Given the description of an element on the screen output the (x, y) to click on. 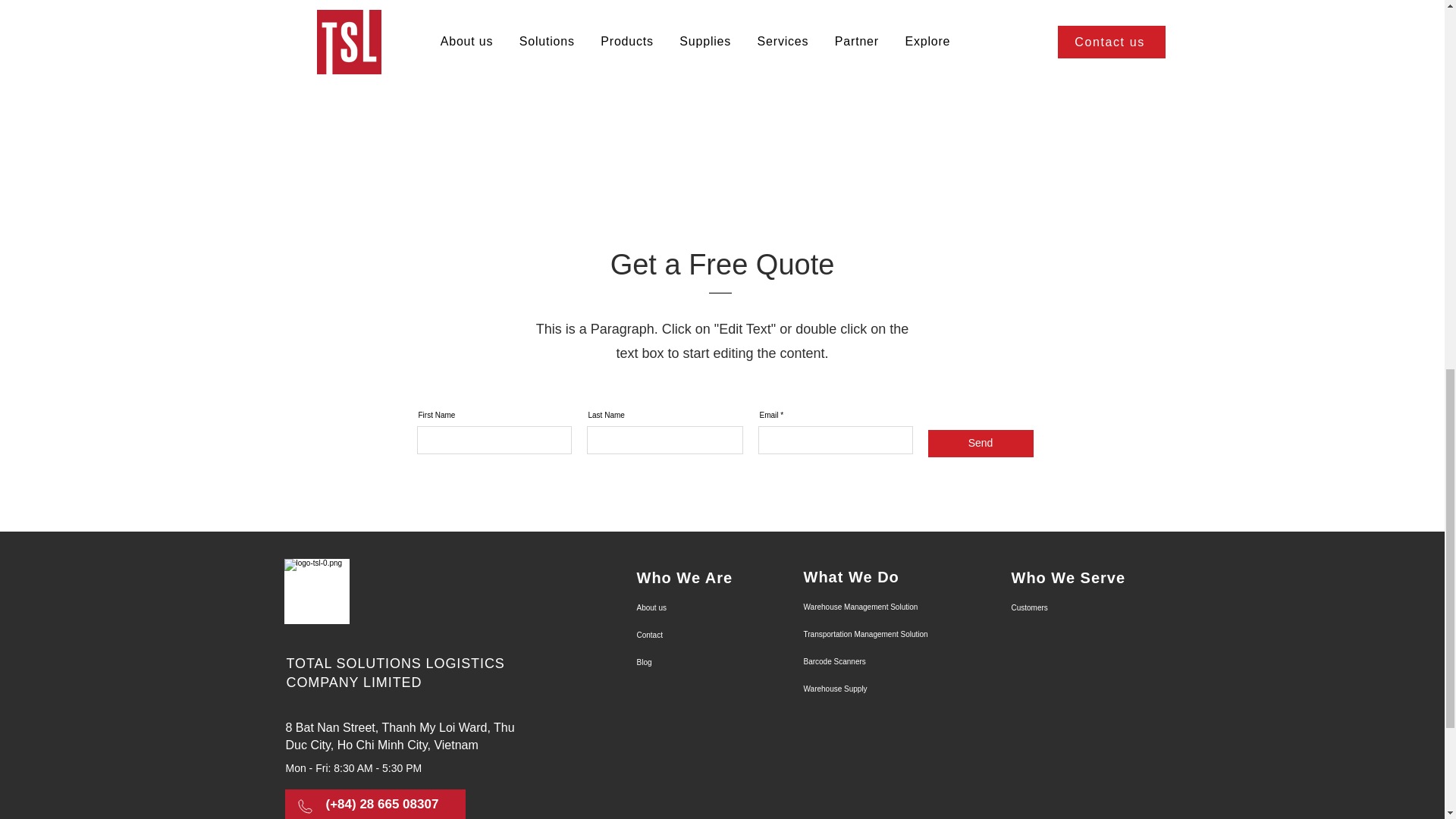
About us (690, 607)
Send (980, 443)
Contact (690, 635)
Warehouse Supply (857, 688)
Blog (690, 662)
Warehouse Management Solution (857, 606)
Customers (1064, 607)
Barcode Scanners (857, 661)
Transportation Management Solution (857, 634)
